Given the description of an element on the screen output the (x, y) to click on. 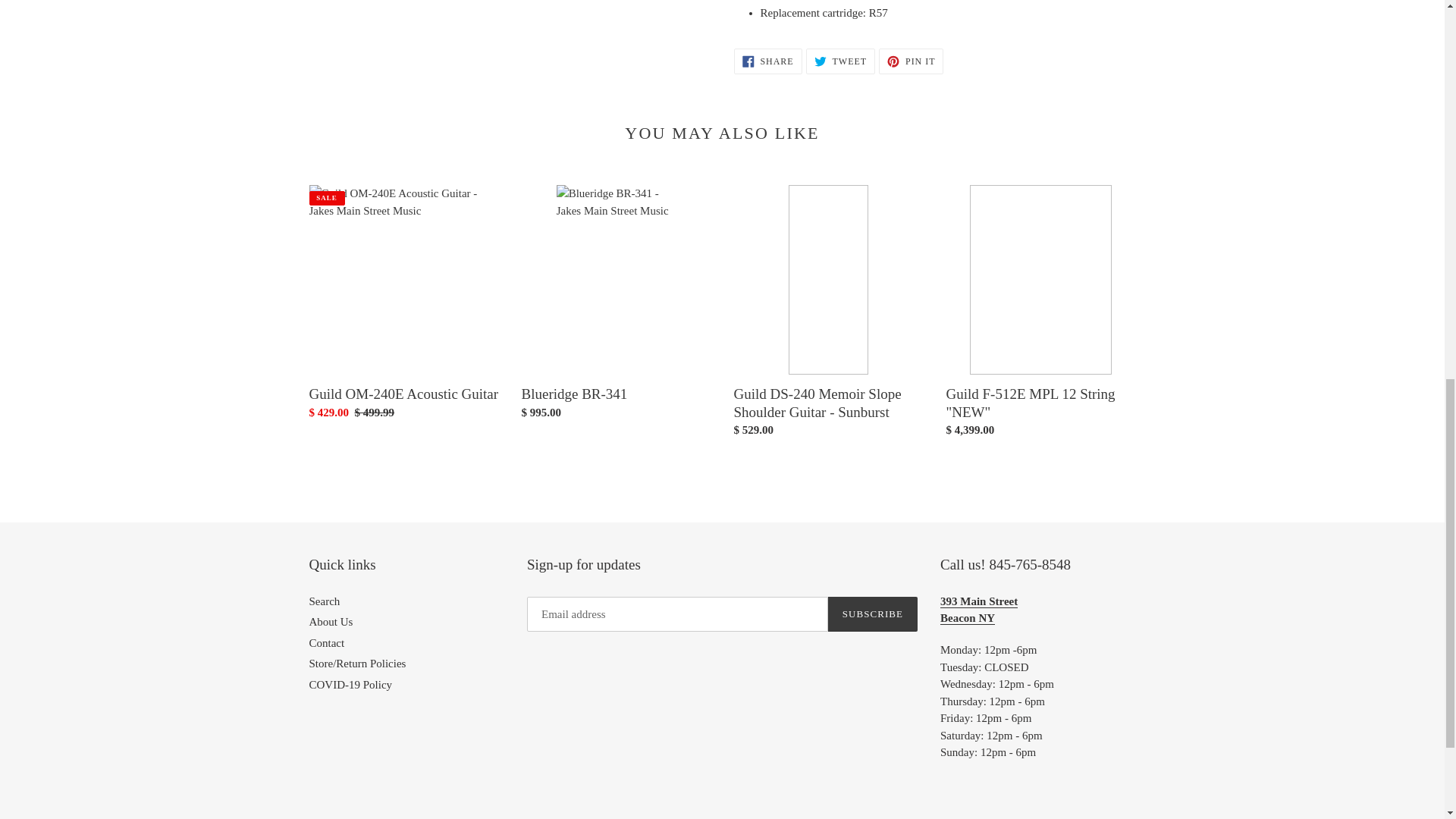
Jakes Main Street Music, Beacon NY (978, 610)
